Given the description of an element on the screen output the (x, y) to click on. 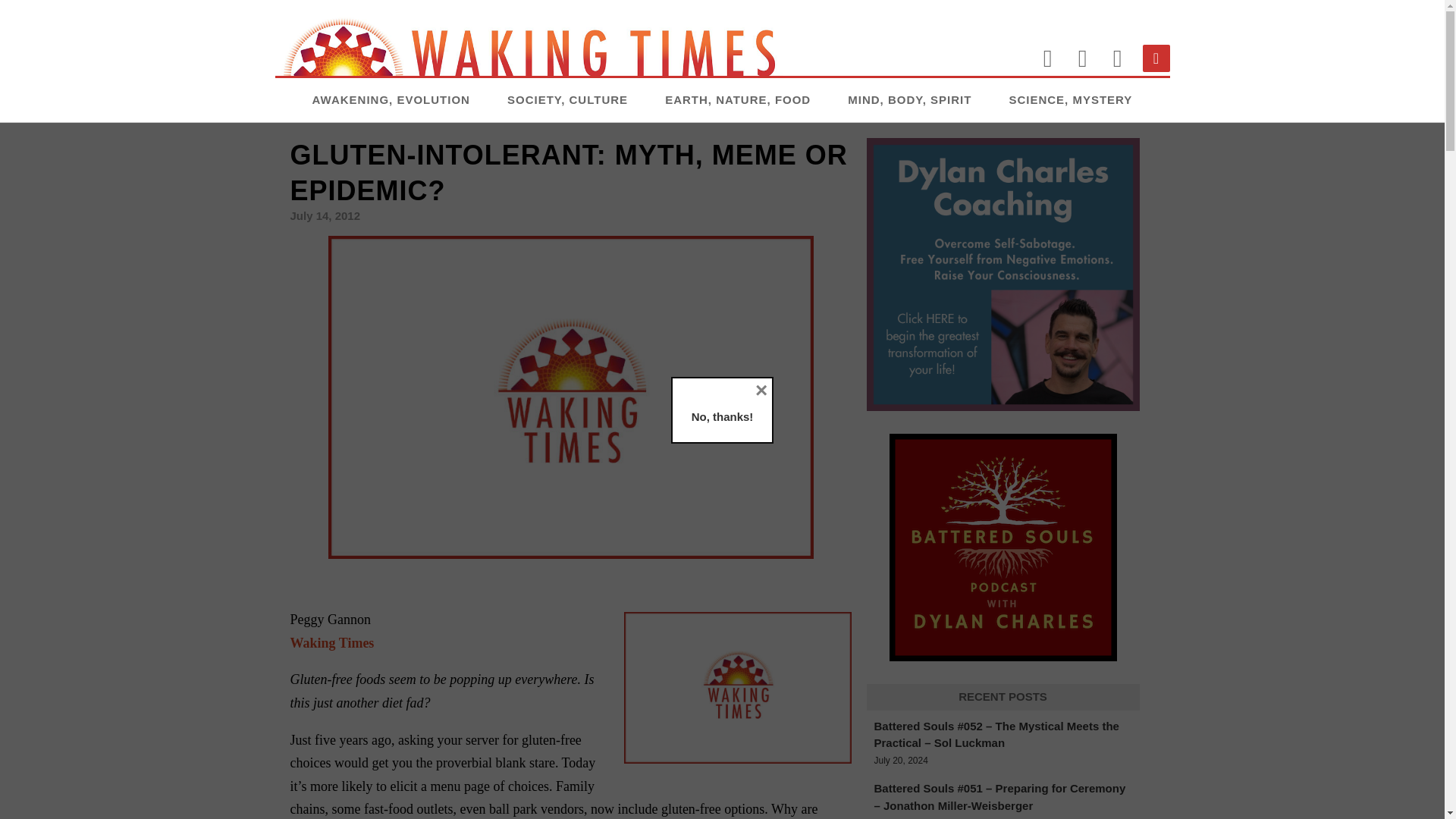
MIND, BODY, SPIRIT (909, 99)
Gluten-Intolerant: Myth, Meme or Epidemic? (569, 395)
SOCIETY, CULTURE (566, 99)
Waking Times (331, 642)
EARTH, NATURE, FOOD (737, 99)
AWAKENING, EVOLUTION (391, 99)
WIKI - Wheat (736, 687)
SCIENCE, MYSTERY (1070, 99)
